Given the description of an element on the screen output the (x, y) to click on. 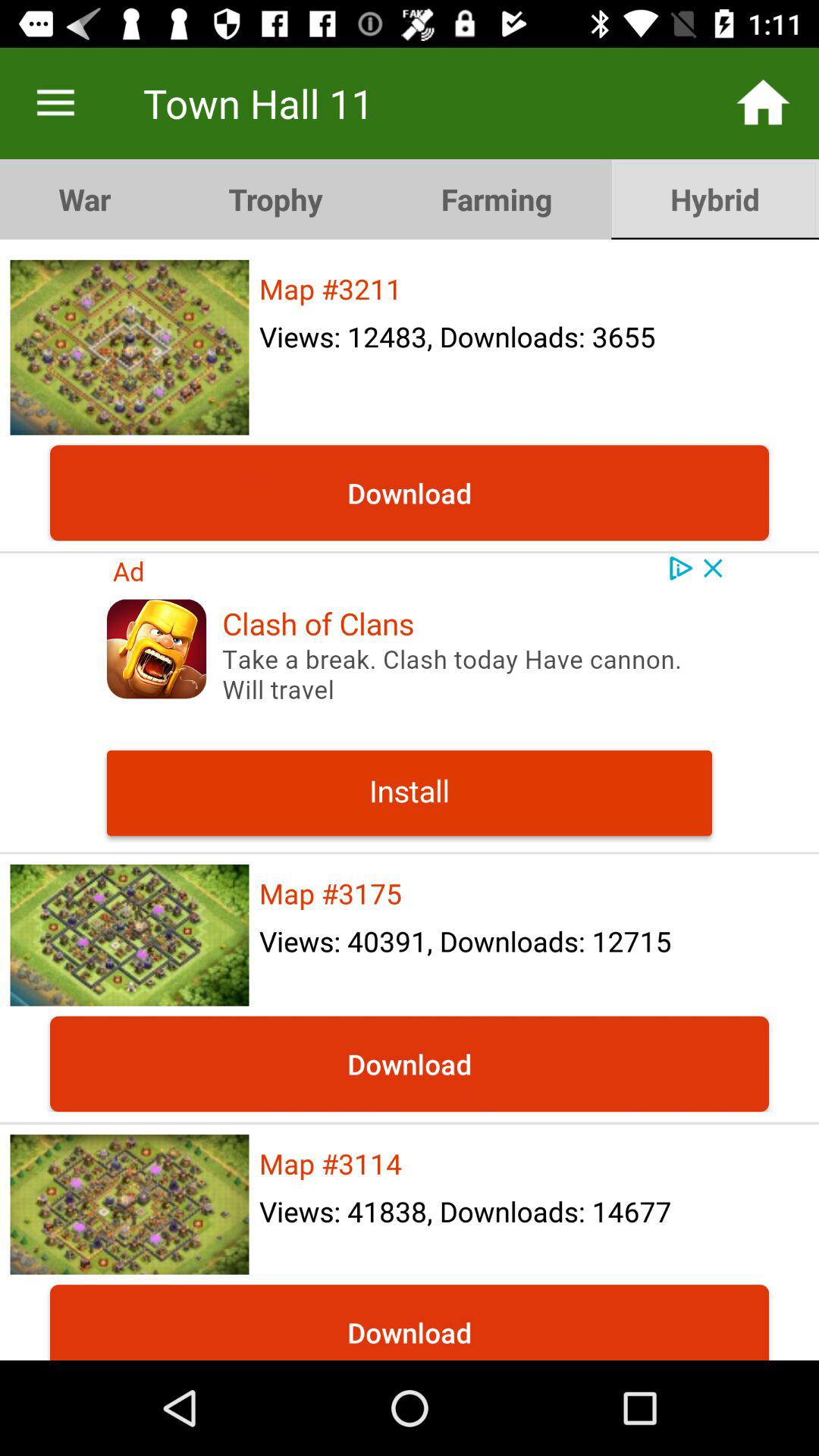
click advertisement (409, 702)
